Given the description of an element on the screen output the (x, y) to click on. 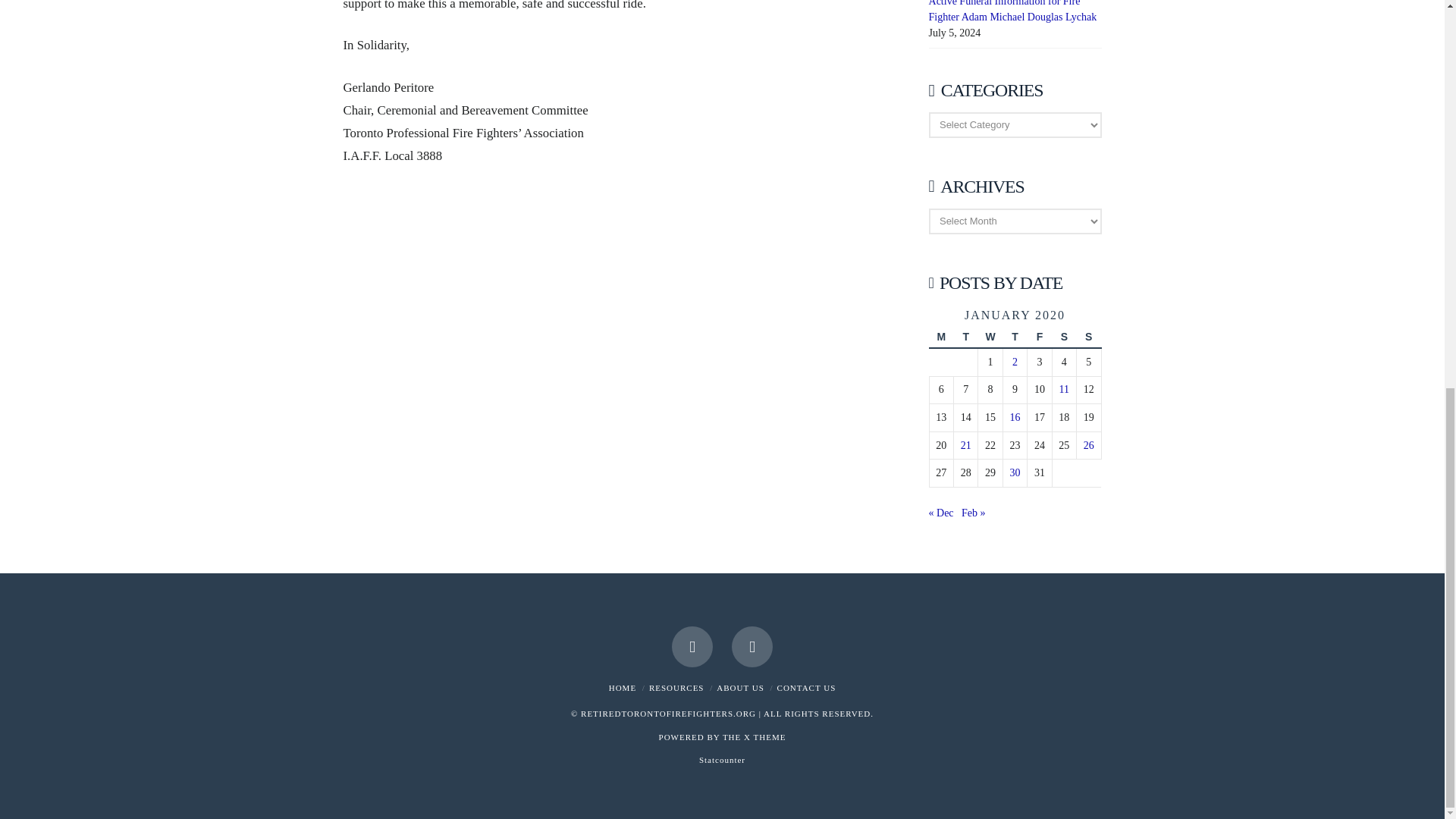
Thursday (1014, 337)
Monday (940, 337)
Facebook (692, 645)
Saturday (1063, 337)
Wednesday (990, 337)
Tuesday (964, 337)
Friday (1039, 337)
Sunday (1088, 337)
